Given the description of an element on the screen output the (x, y) to click on. 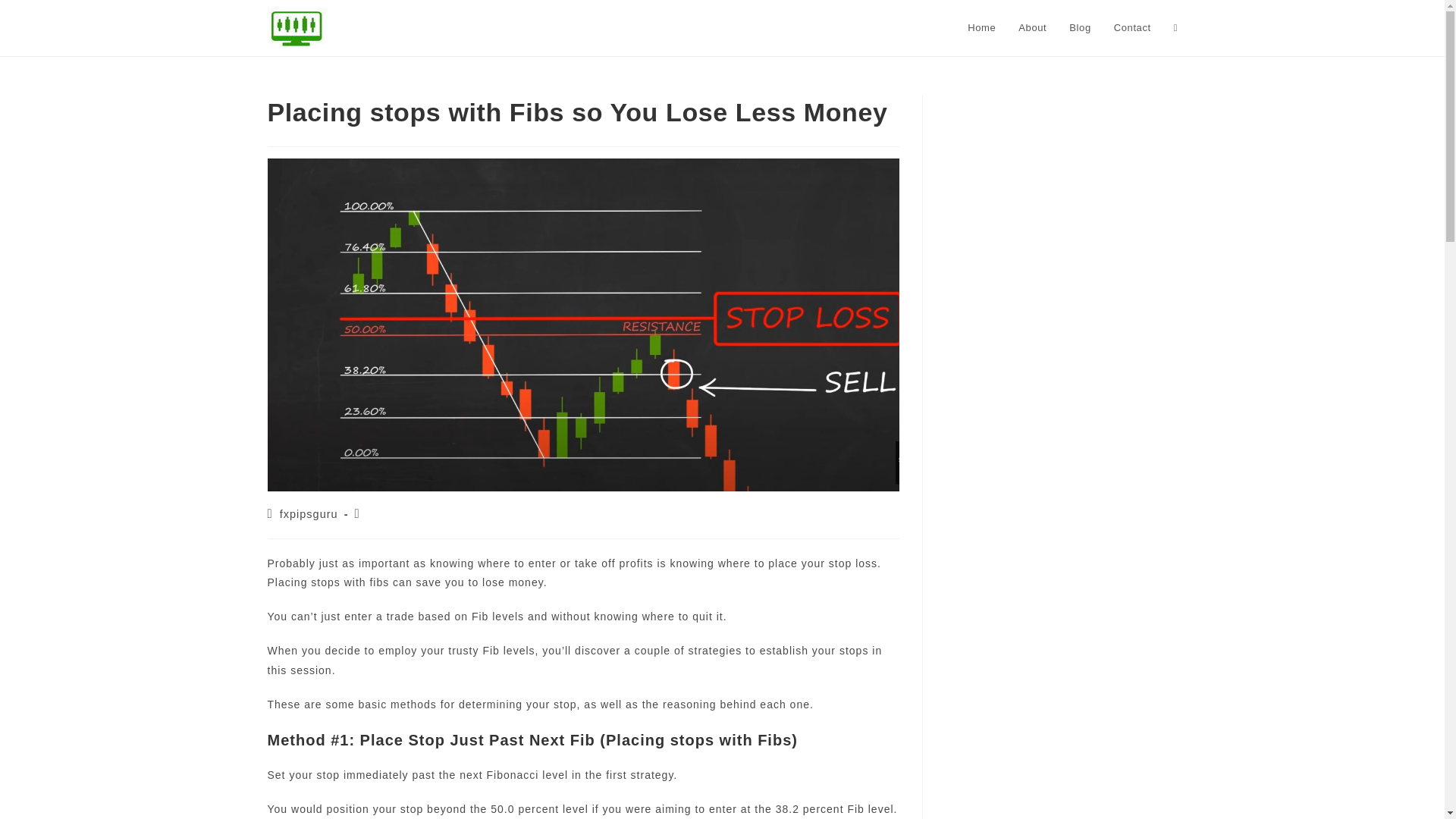
Home (981, 28)
fxpipsguru (308, 513)
Contact (1131, 28)
About (1032, 28)
Posts by fxpipsguru (308, 513)
